Given the description of an element on the screen output the (x, y) to click on. 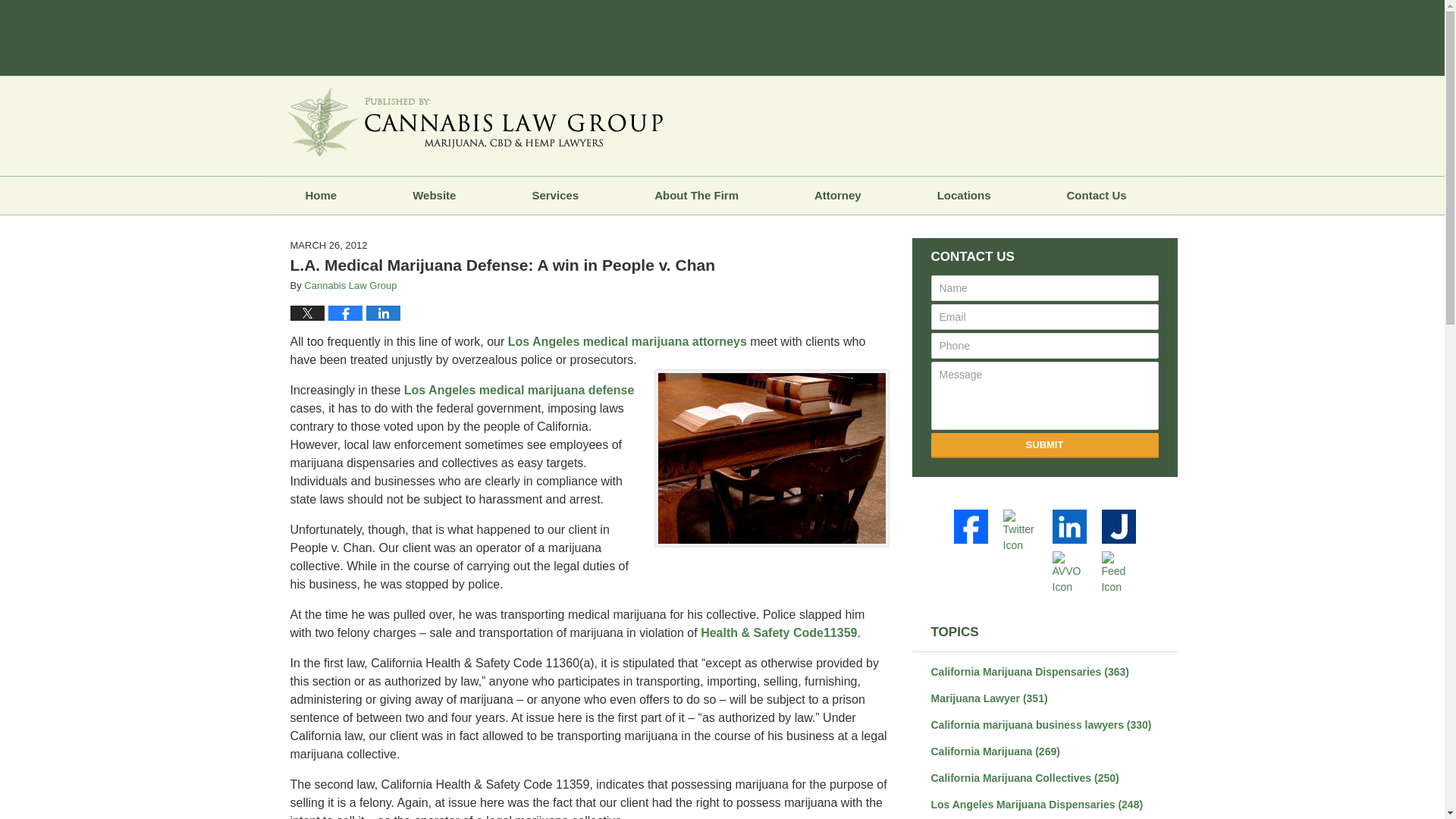
AVVO (1072, 573)
About The Firm (695, 195)
Published By Cannabis Law Group (1066, 128)
Contact Us (1096, 195)
Justia (1120, 526)
Cannabis Law Group (350, 285)
Home (320, 195)
Cannabis Law Group's Medical Marijuana Legal Blog (474, 121)
LinkedIn (1072, 526)
Feed (1120, 573)
Twitter (1022, 531)
Locations (964, 195)
Facebook (972, 526)
Attorney (837, 195)
Website (433, 195)
